Given the description of an element on the screen output the (x, y) to click on. 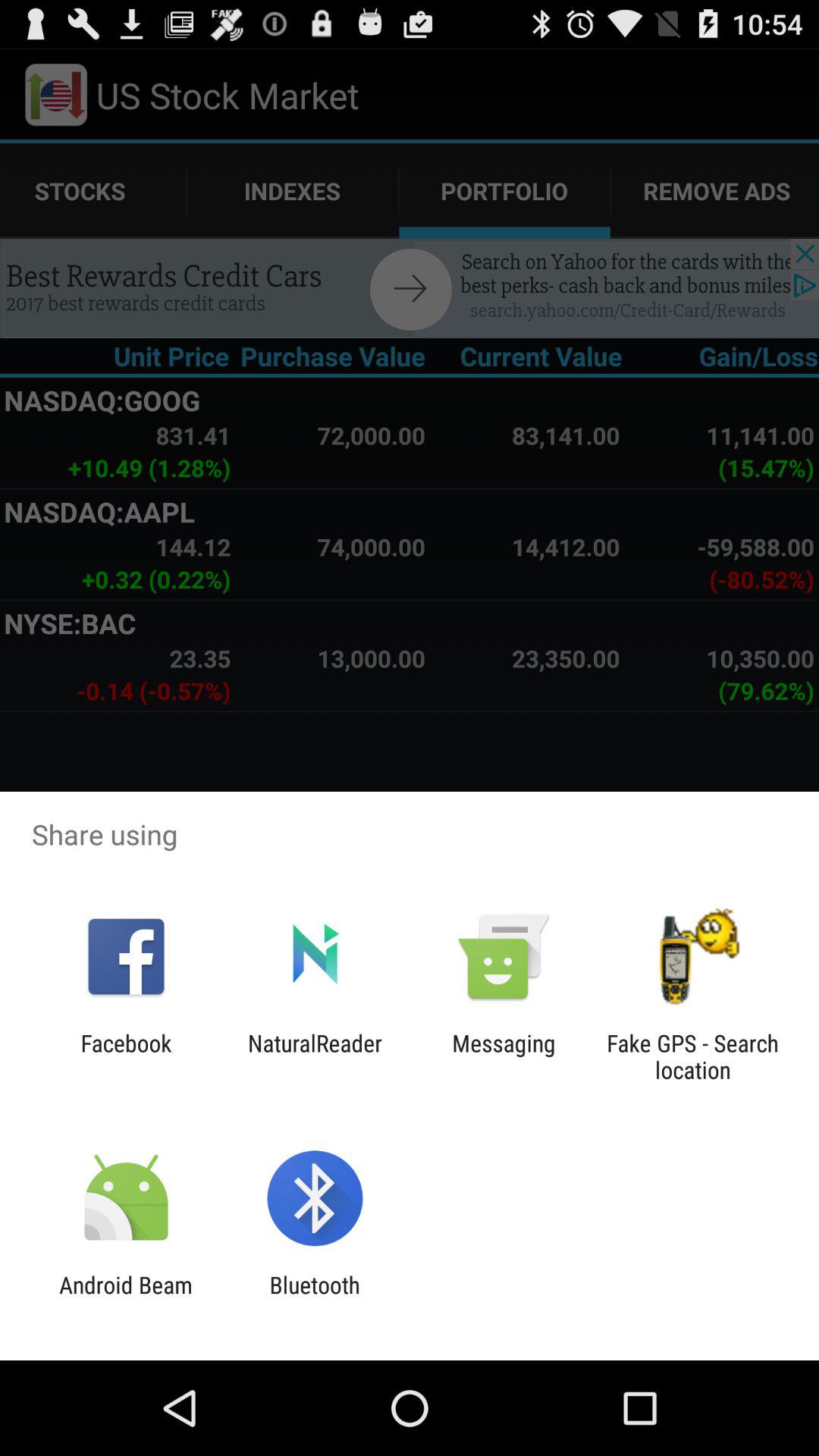
turn off fake gps search (692, 1056)
